Given the description of an element on the screen output the (x, y) to click on. 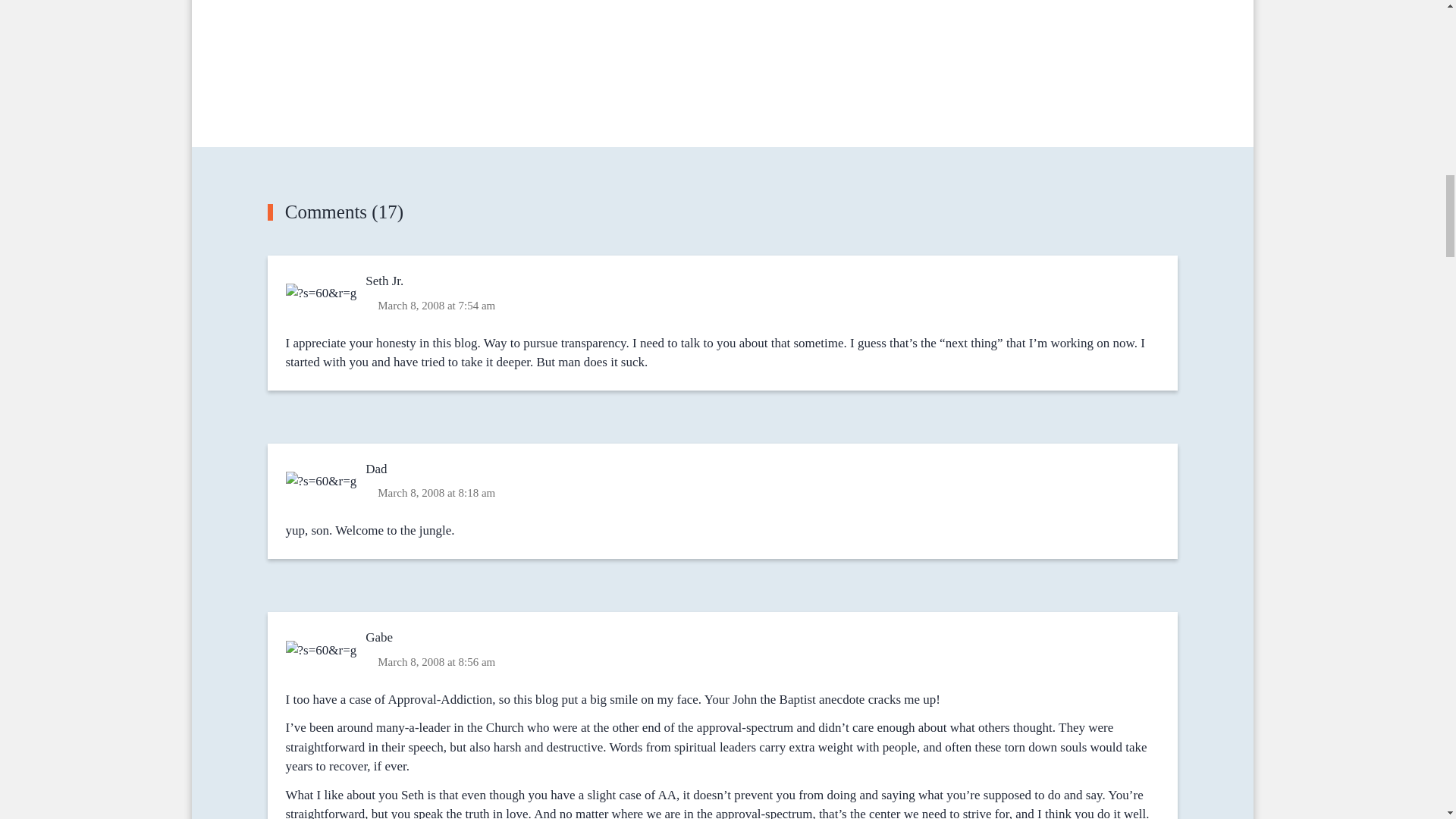
March 8, 2008 at 8:56 am (435, 661)
I care about the approval of men too much 3 (321, 650)
March 8, 2008 at 8:18 am (435, 492)
I care about the approval of men too much 3 (321, 481)
March 8, 2008 at 7:54 am (435, 305)
I care about the approval of men too much 3 (321, 293)
